Given the description of an element on the screen output the (x, y) to click on. 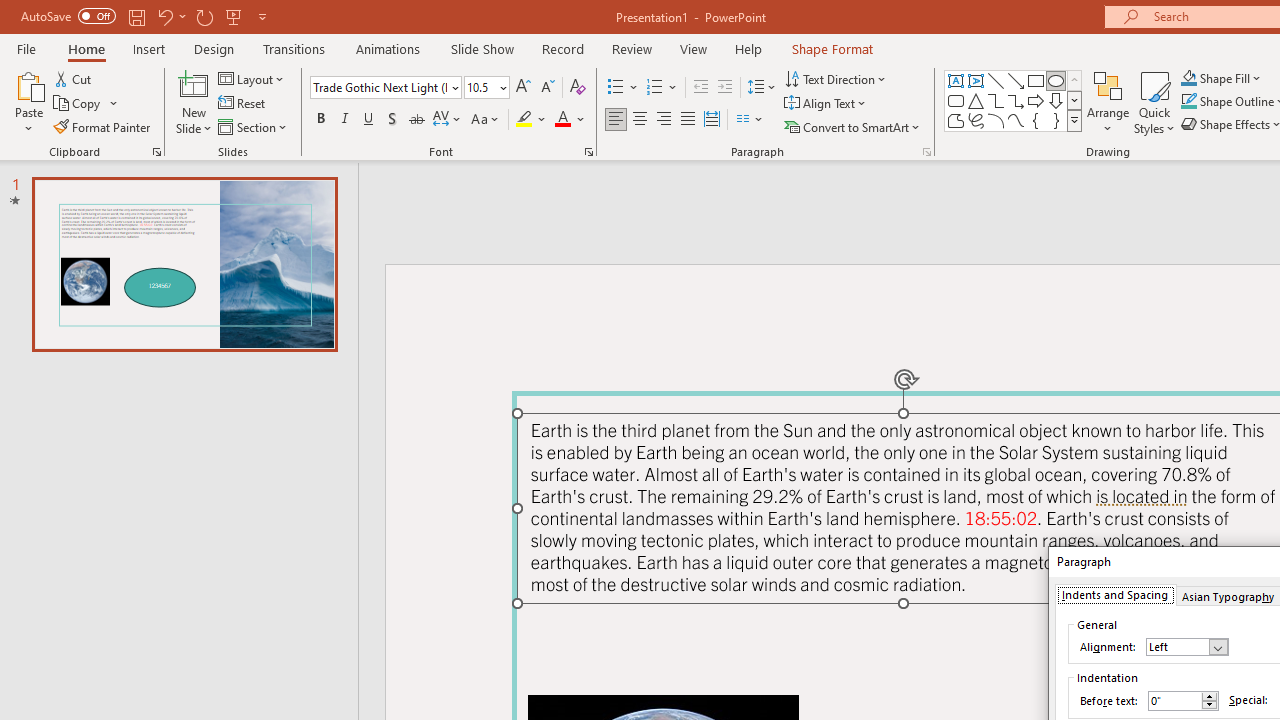
Alignment (1186, 646)
